Given the description of an element on the screen output the (x, y) to click on. 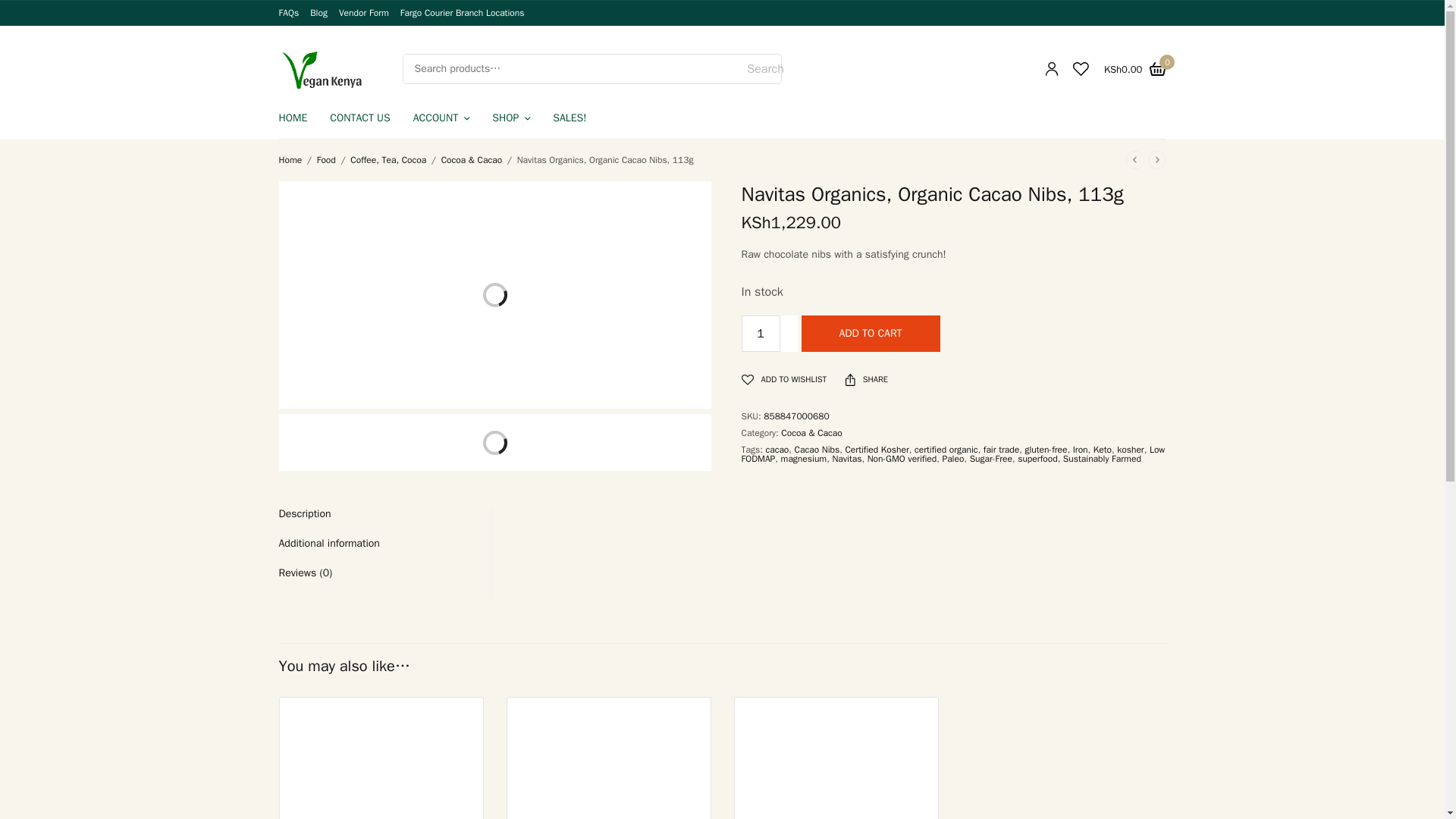
Search (764, 68)
Vendor Form (363, 12)
Navitas Organics Cacao Nibs 113g back (422, 440)
Vegan Kenya (322, 69)
1 (760, 333)
Matcha Wellness, Organic Matcha Superior Culinary, 30g (380, 758)
SHOP (510, 118)
HOME (293, 118)
Navitas Organics Cacao Nibs use (363, 440)
Viva Naturals, Organic Cacao Powder, 454g (608, 758)
CONTACT US (360, 118)
Navitas Organics Cacao Nibs 113g (305, 442)
Fargo Courier Branch Locations (462, 12)
ACCOUNT (441, 118)
